Given the description of an element on the screen output the (x, y) to click on. 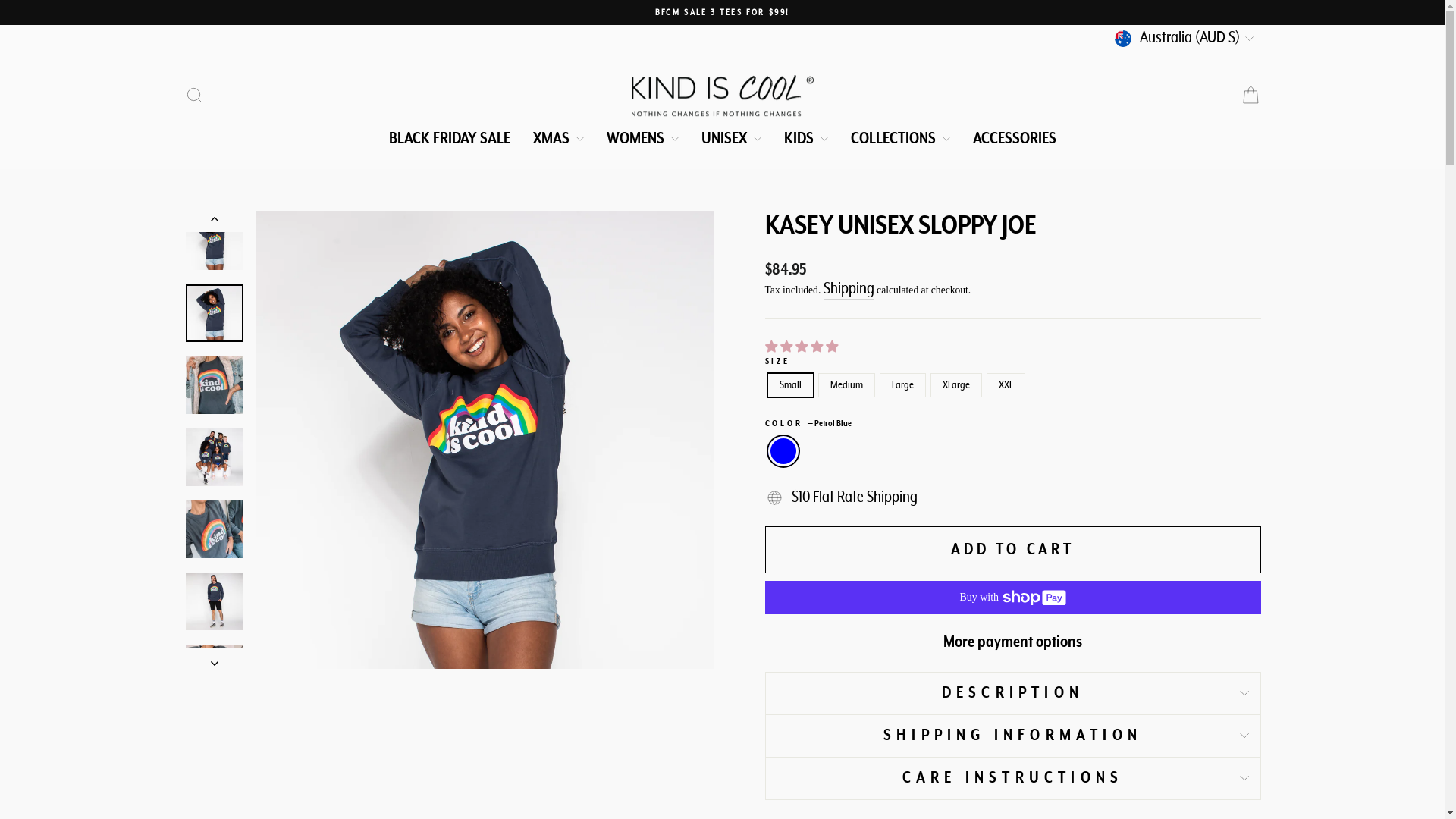
More payment options Element type: text (1012, 642)
ICON-SEARCH
SEARCH Element type: text (193, 95)
ADD TO CART Element type: text (1012, 549)
DESCRIPTION Element type: text (1012, 692)
Australia (AUD $) Element type: text (1185, 36)
Australia (AUD $) Element type: text (1185, 38)
CART Element type: text (1249, 95)
SHIPPING INFORMATION Element type: text (1012, 735)
ACCESSORIES Element type: text (1014, 138)
icon-chevron Element type: text (213, 657)
CARE INSTRUCTIONS Element type: text (1012, 778)
Shipping Element type: text (848, 289)
BLACK FRIDAY SALE Element type: text (449, 138)
